Given the description of an element on the screen output the (x, y) to click on. 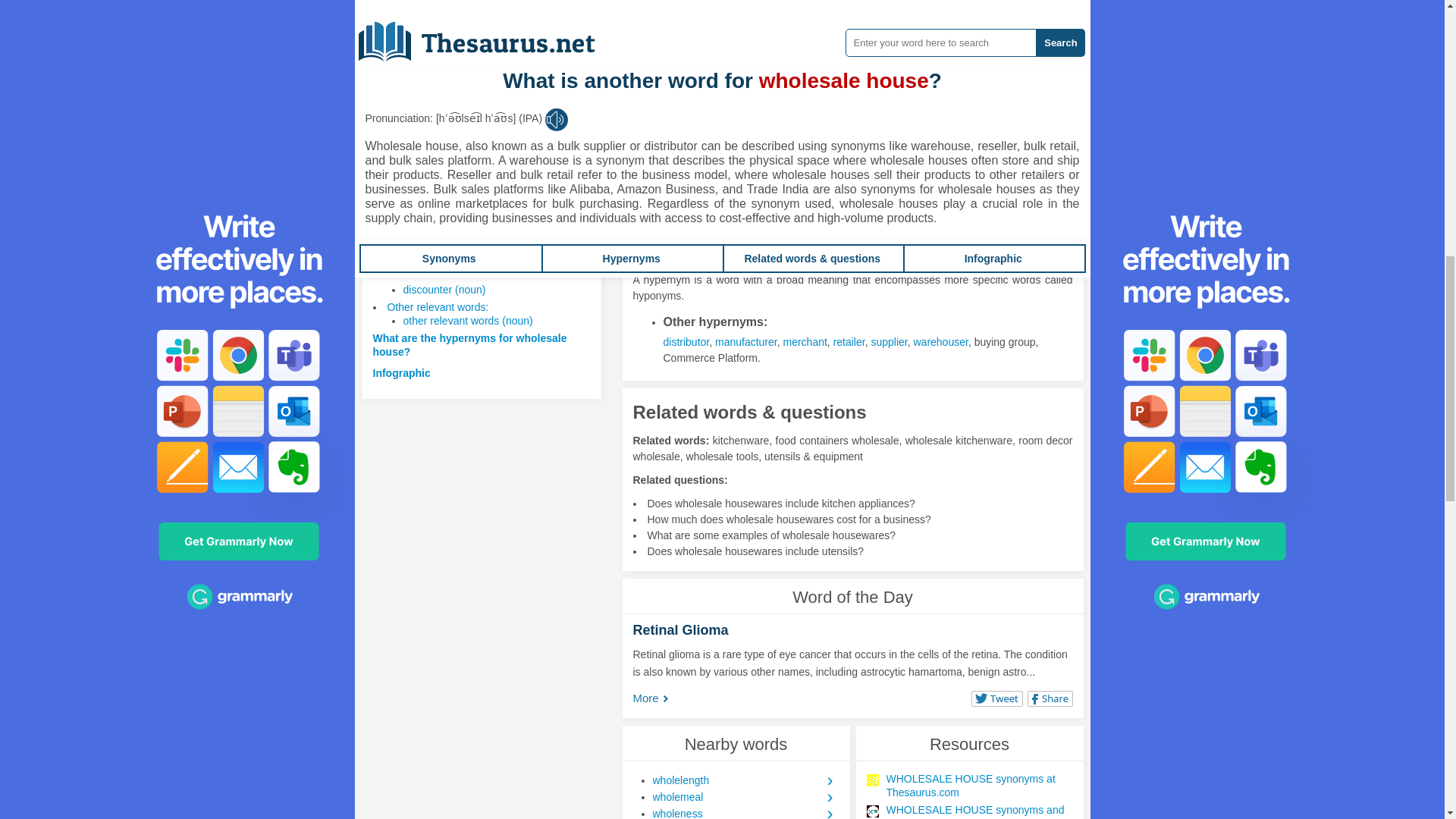
shop (705, 113)
Wareroom (686, 65)
What is another word for wholesale house? (461, 240)
Synonyms for Wholesale house (737, 65)
magasin (806, 97)
post (993, 97)
Synonyms for Wholesale house (765, 97)
co-op (835, 65)
country store (692, 81)
mail-order house (872, 97)
Synonyms for Wholesale house (860, 90)
market (934, 97)
discount house (852, 81)
Other relevant words: (437, 306)
Synonyms for Wholesale house (993, 97)
